Given the description of an element on the screen output the (x, y) to click on. 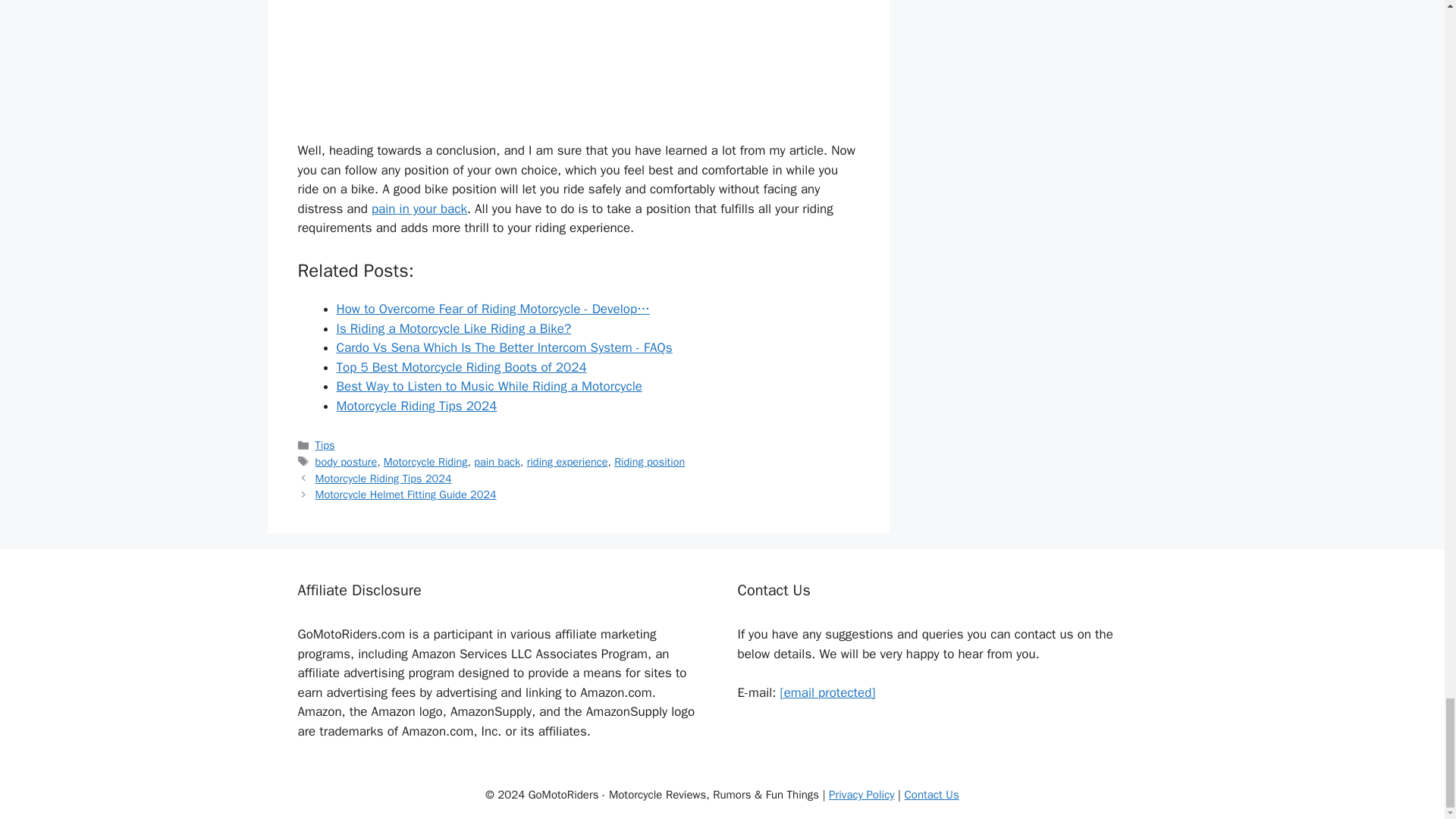
Motorcycle Riding Tips 2024 (383, 478)
Cardo Vs Sena Which Is The Better Intercom System - FAQs (504, 347)
Top 5 Best Motorcycle Riding Boots of 2024 (461, 367)
Riding position (649, 461)
Motorcycle Riding Tips 2024 (416, 406)
body posture (346, 461)
Motorcycle Riding (425, 461)
Motorcycle Helmet Fitting Guide 2024 (405, 494)
Is Riding a Motorcycle Like Riding a Bike? (454, 328)
pain in your back (419, 208)
Best Way to Listen to Music While Riding a Motorcycle (489, 385)
pain back (496, 461)
riding experience (567, 461)
Tips (324, 445)
